Given the description of an element on the screen output the (x, y) to click on. 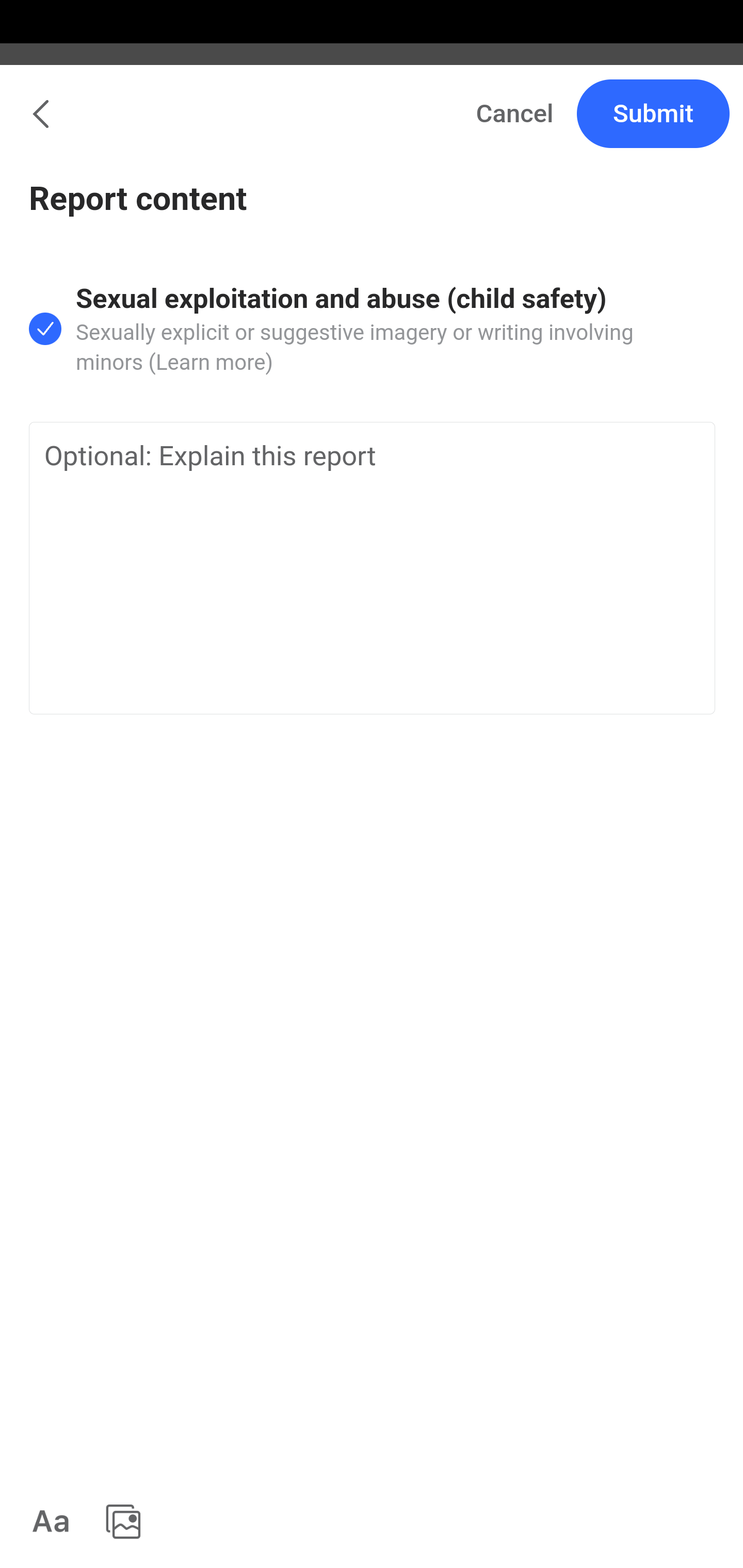
Me (64, 125)
